Given the description of an element on the screen output the (x, y) to click on. 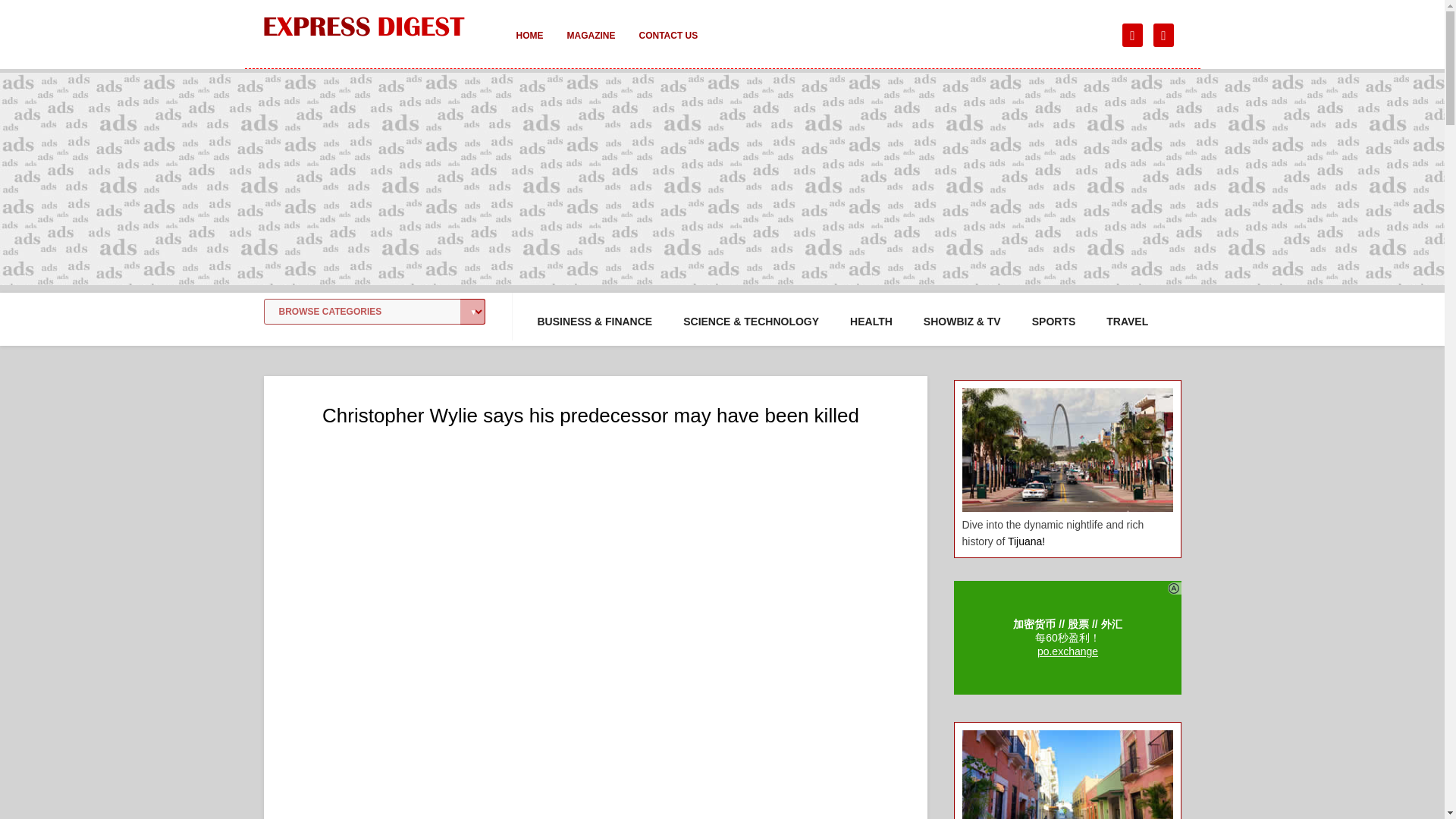
TRAVEL (1127, 321)
CONTACT US (667, 45)
SPORTS (1053, 321)
HEALTH (871, 321)
Tijuana! (1026, 541)
MAGAZINE (590, 45)
